Given the description of an element on the screen output the (x, y) to click on. 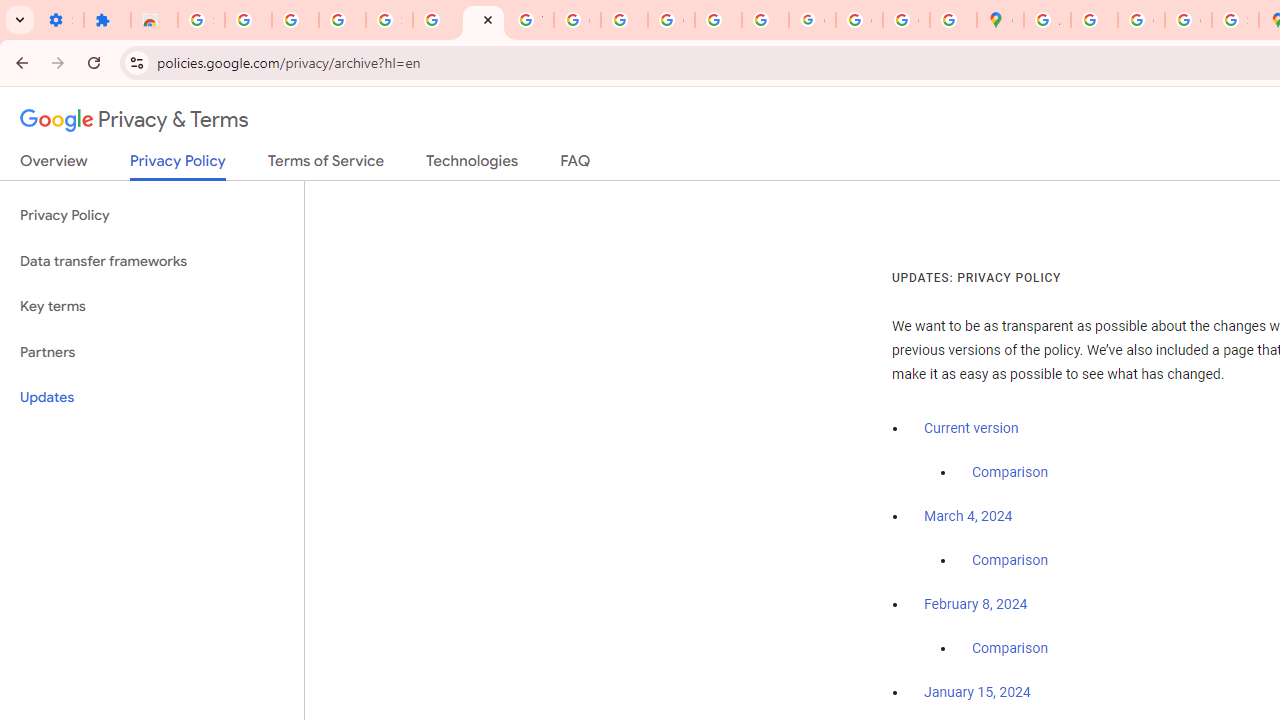
Create your Google Account (1140, 20)
Safety in Our Products - Google Safety Center (1235, 20)
